Given the description of an element on the screen output the (x, y) to click on. 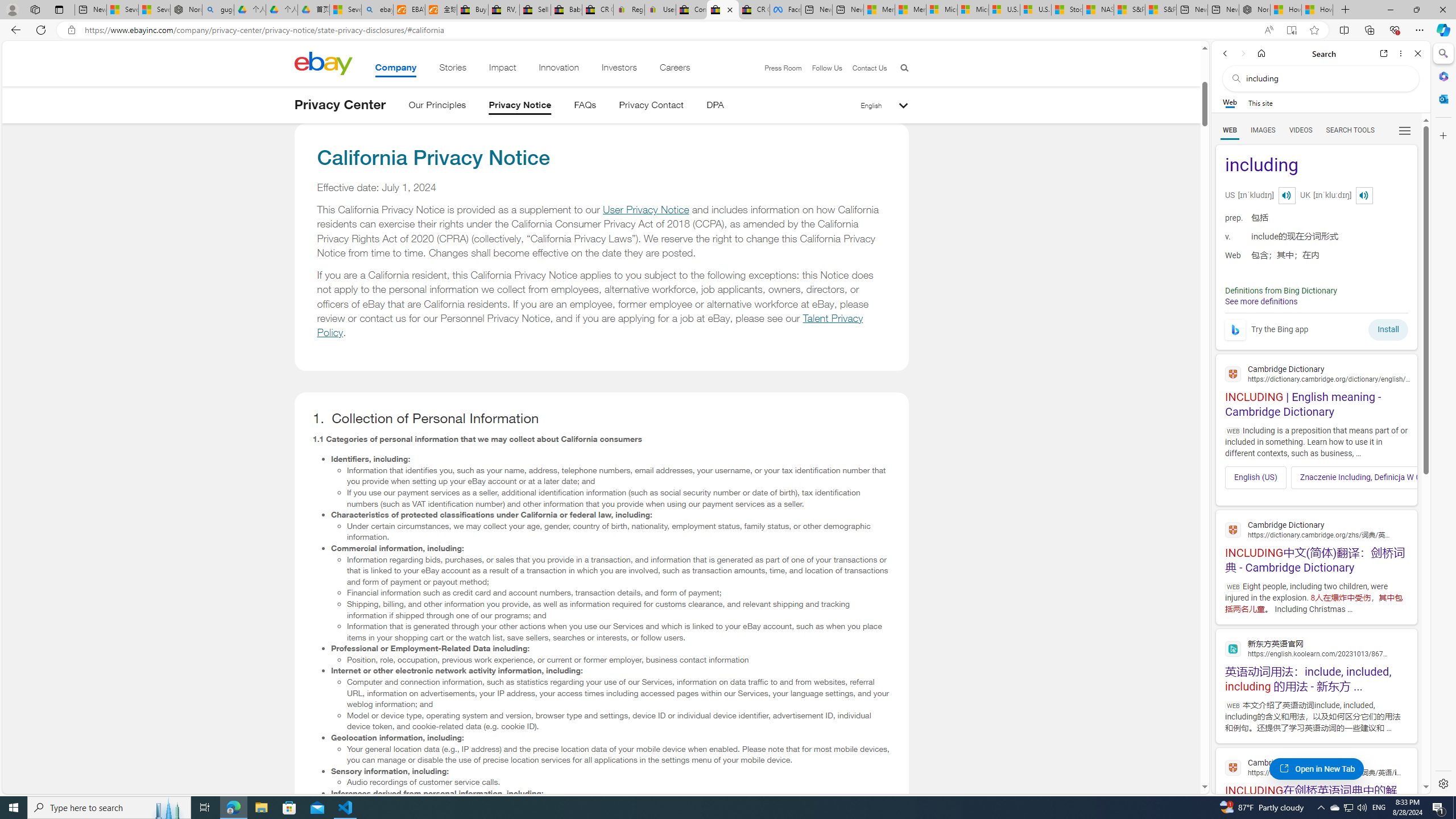
See more definitions (1260, 301)
Click to scroll right (1400, 477)
Privacy Contact (651, 107)
Outlook (1442, 98)
